Given the description of an element on the screen output the (x, y) to click on. 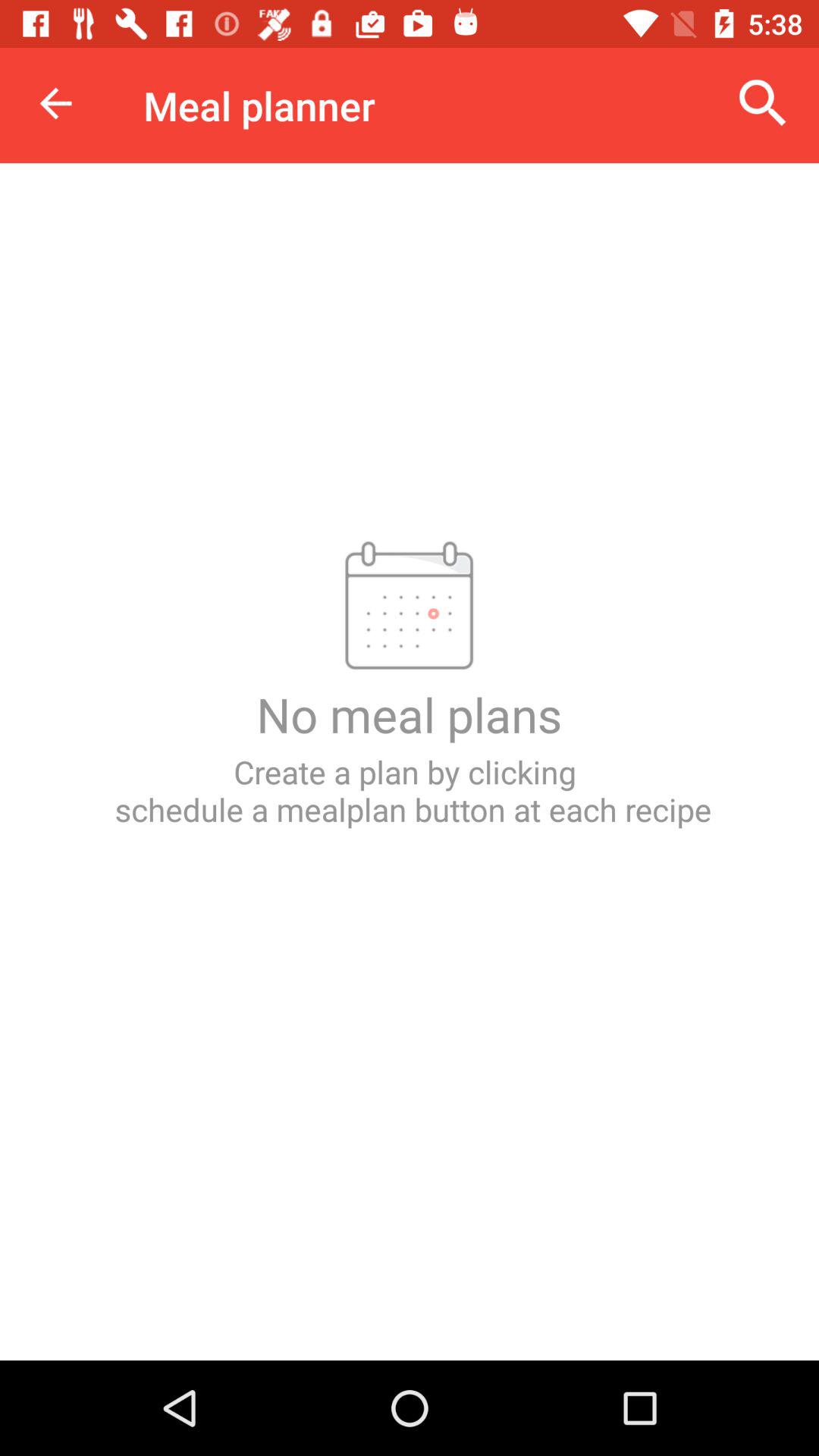
press the item above create a plan item (55, 103)
